Given the description of an element on the screen output the (x, y) to click on. 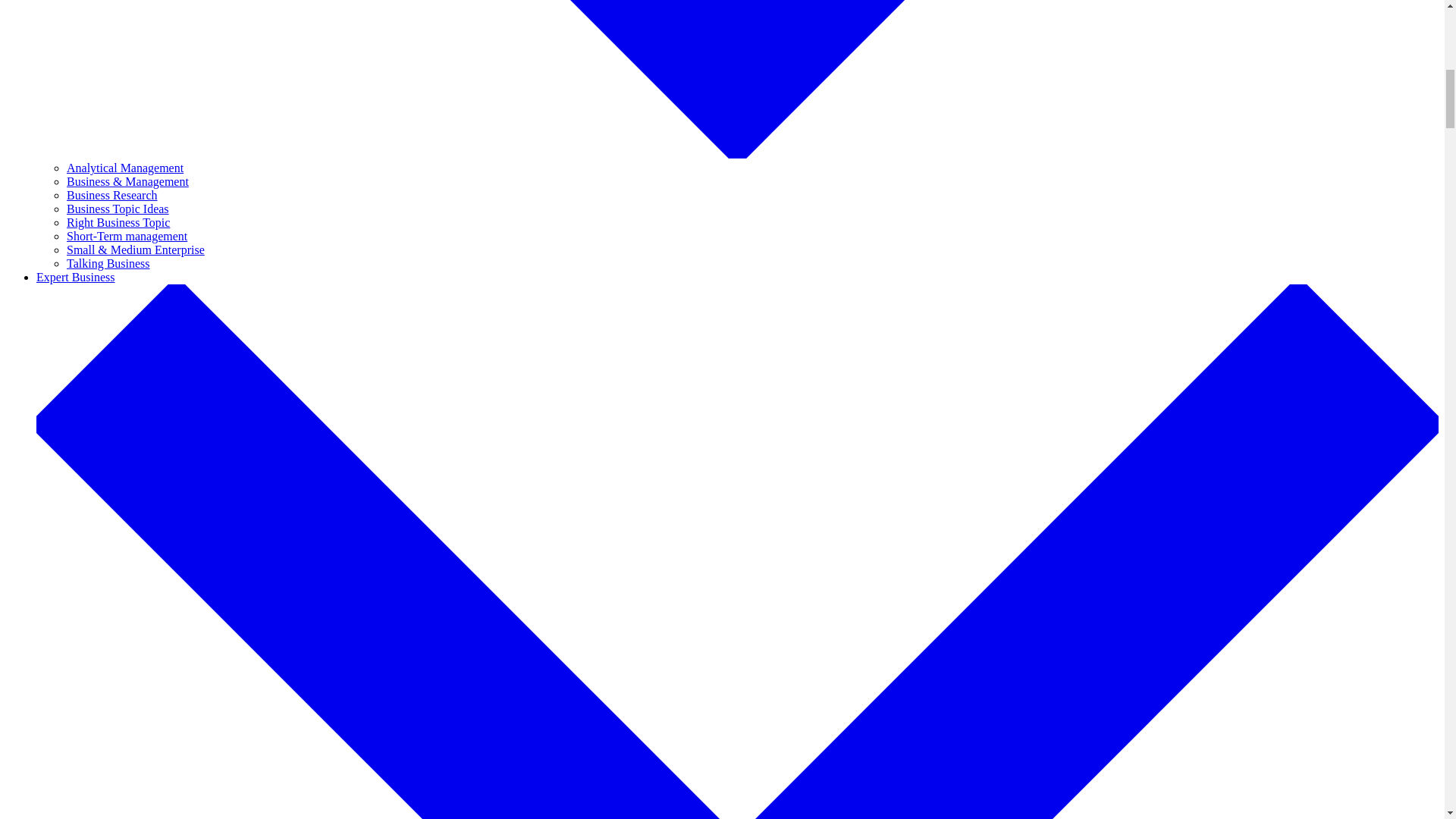
Business Topic Ideas (117, 208)
Right Business Topic (118, 222)
Talking Business (107, 263)
Business Research (111, 195)
Short-Term management (126, 236)
Analytical Management (124, 167)
